Given the description of an element on the screen output the (x, y) to click on. 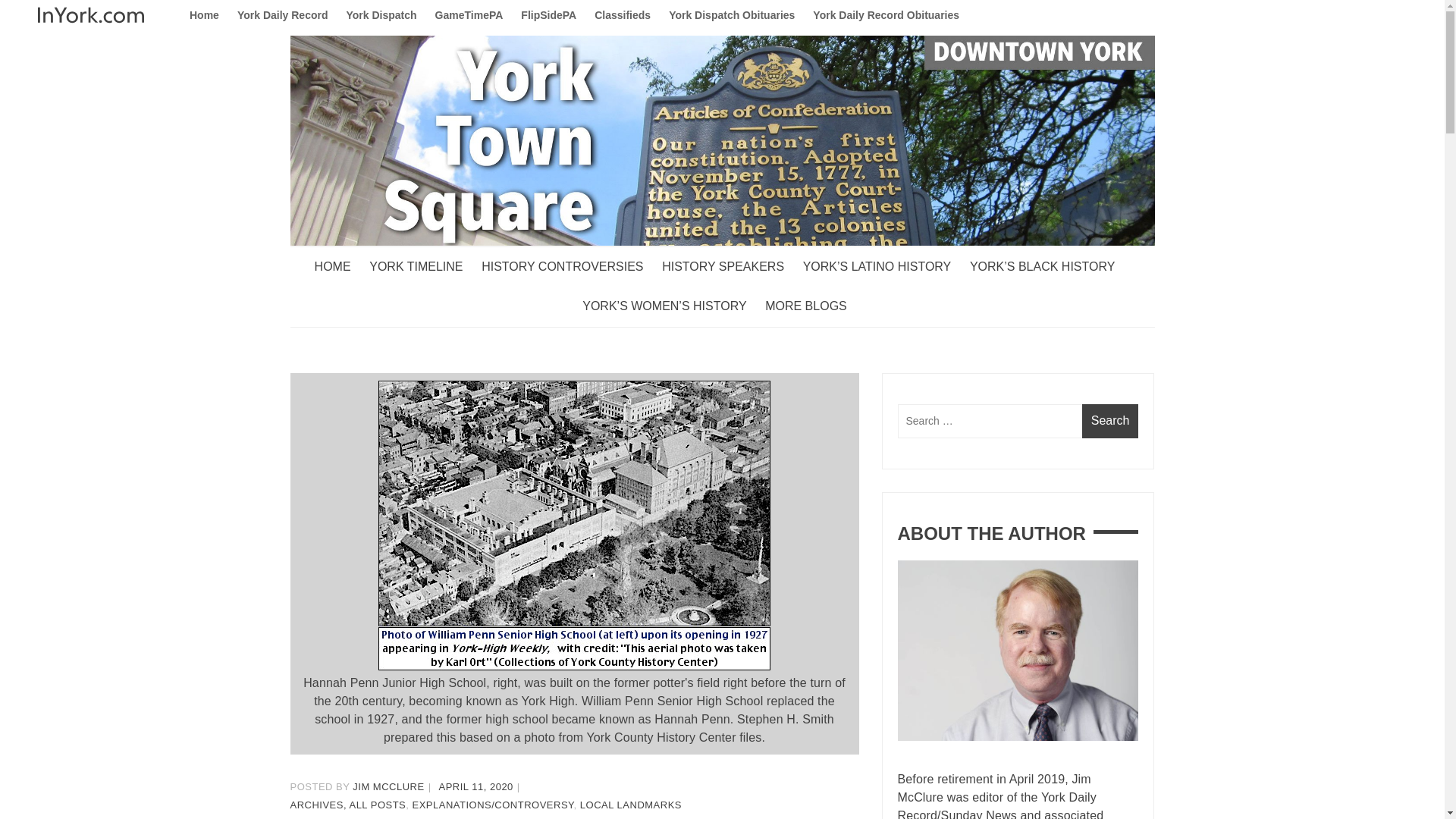
APRIL 11, 2020 (476, 786)
ARCHIVES, ALL POSTS (347, 804)
HISTORY CONTROVERSIES (569, 266)
York Town Square (394, 275)
LOCAL LANDMARKS (630, 804)
HISTORY SPEAKERS (730, 266)
YORK TIMELINE (423, 266)
HOME (340, 266)
MORE BLOGS (813, 305)
Search (1109, 421)
JIM MCCLURE (387, 786)
Search (1109, 421)
